Given the description of an element on the screen output the (x, y) to click on. 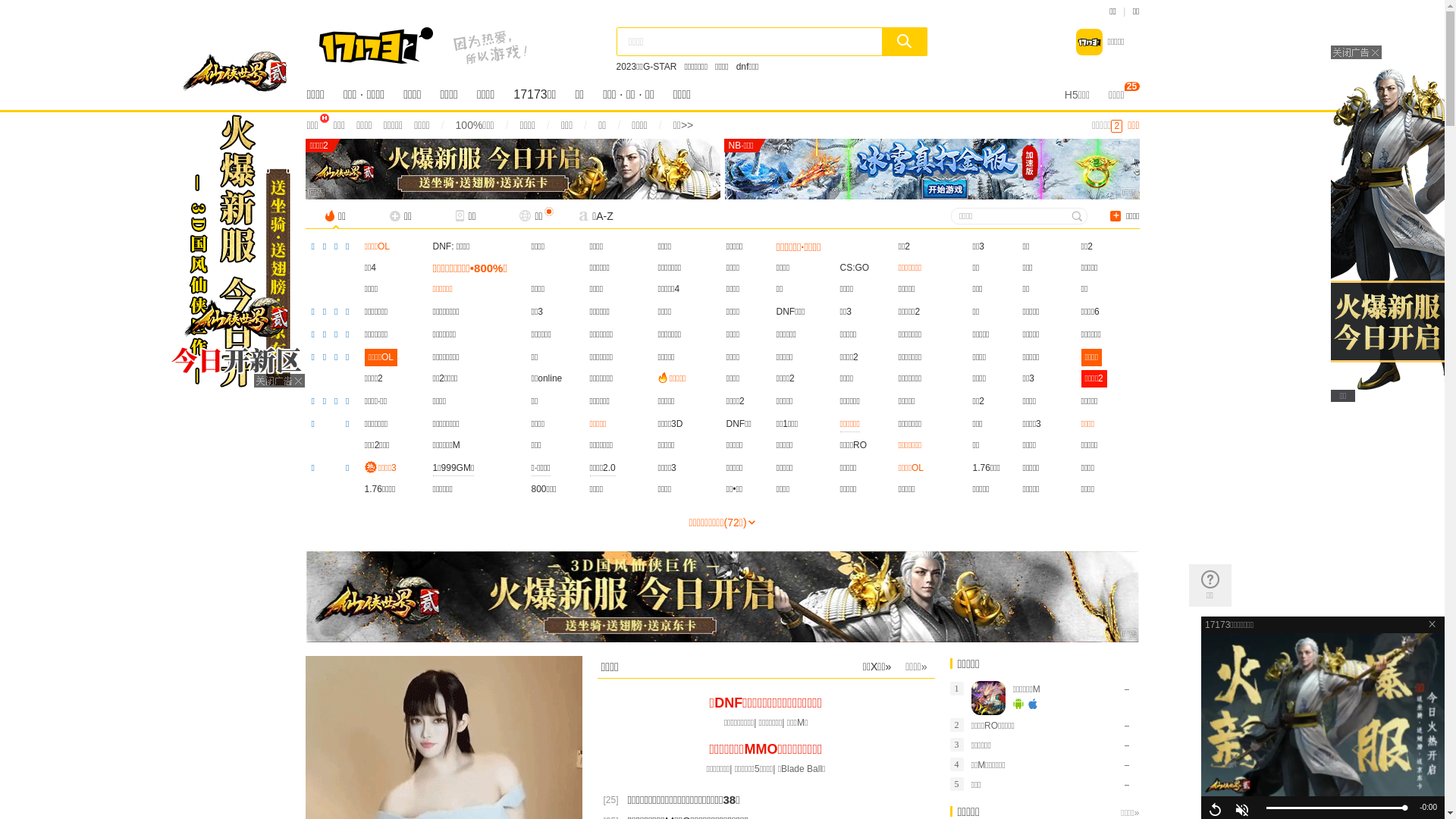
CS:GO Element type: text (854, 267)
